Given the description of an element on the screen output the (x, y) to click on. 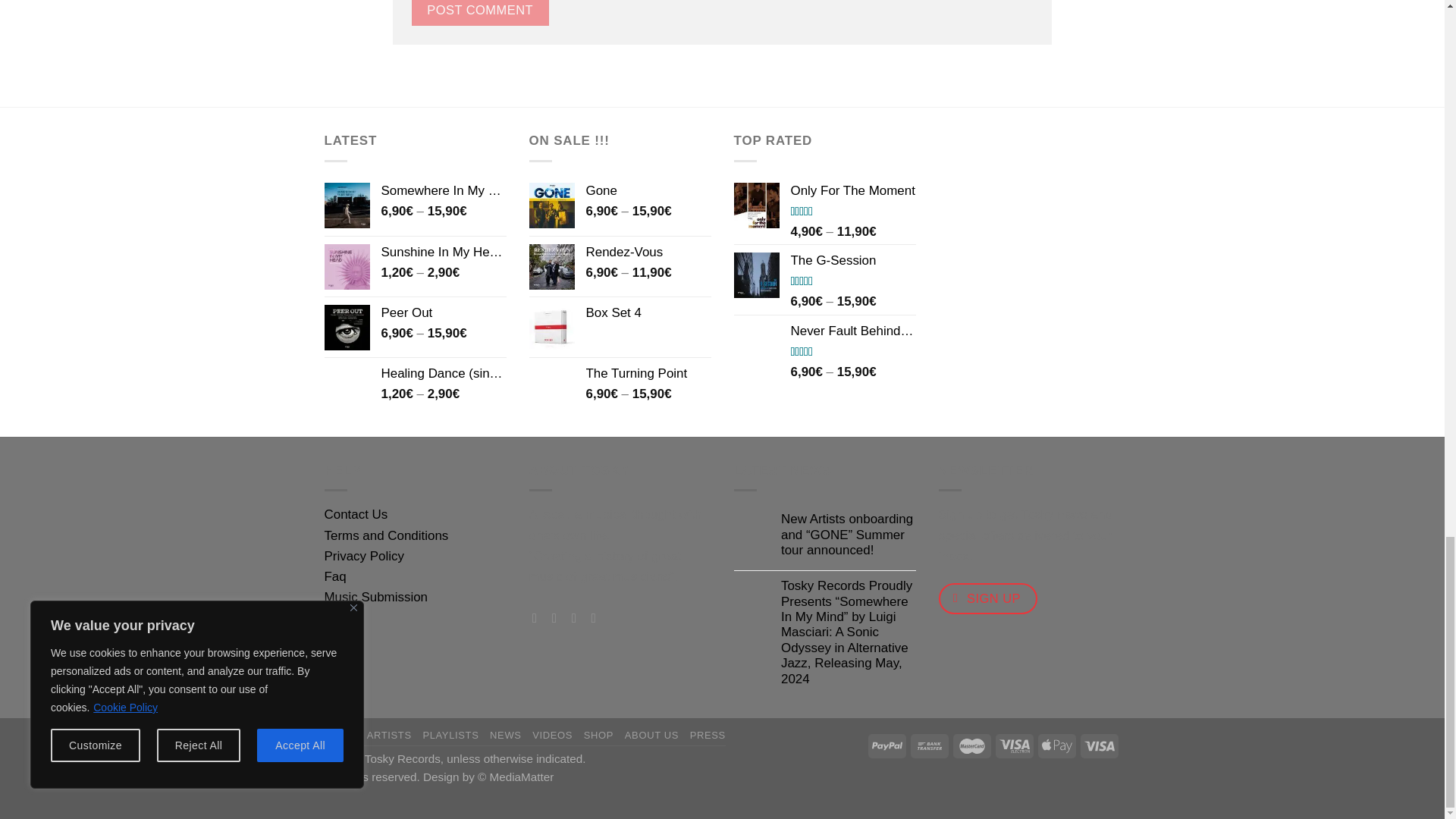
Post Comment (479, 12)
